Given the description of an element on the screen output the (x, y) to click on. 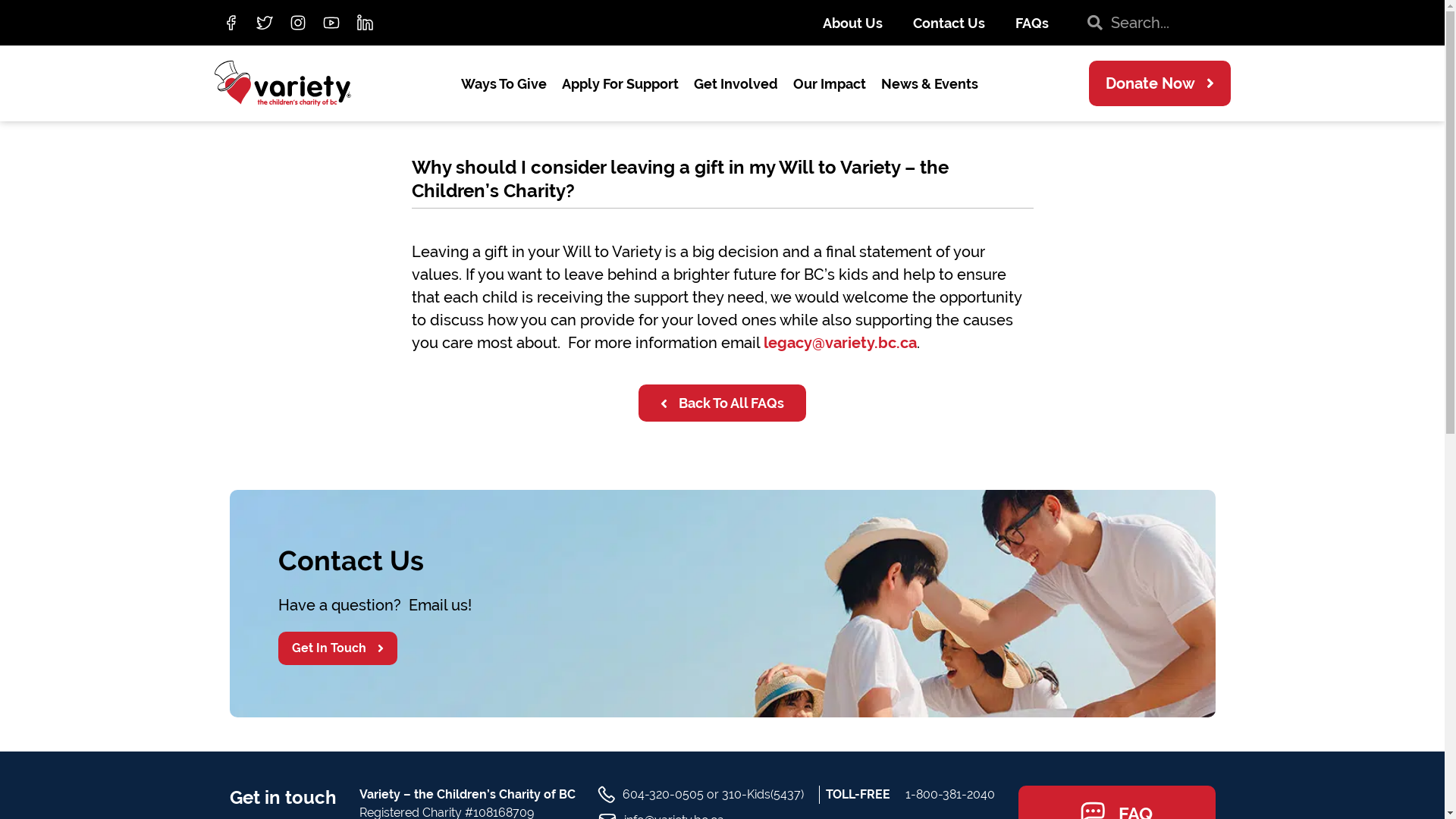
legacy@variety.bc.ca Element type: text (839, 342)
Contact Us Element type: text (948, 22)
Donate Now Element type: text (1159, 83)
News & Events Element type: text (929, 83)
Ways To Give Element type: text (503, 83)
About Us Element type: text (851, 22)
Get In Touch Element type: text (336, 648)
Get Involved Element type: text (735, 83)
Our Impact Element type: text (829, 83)
Apply For Support Element type: text (620, 83)
Back To All FAQs Element type: text (722, 402)
FAQs Element type: text (1031, 22)
